Given the description of an element on the screen output the (x, y) to click on. 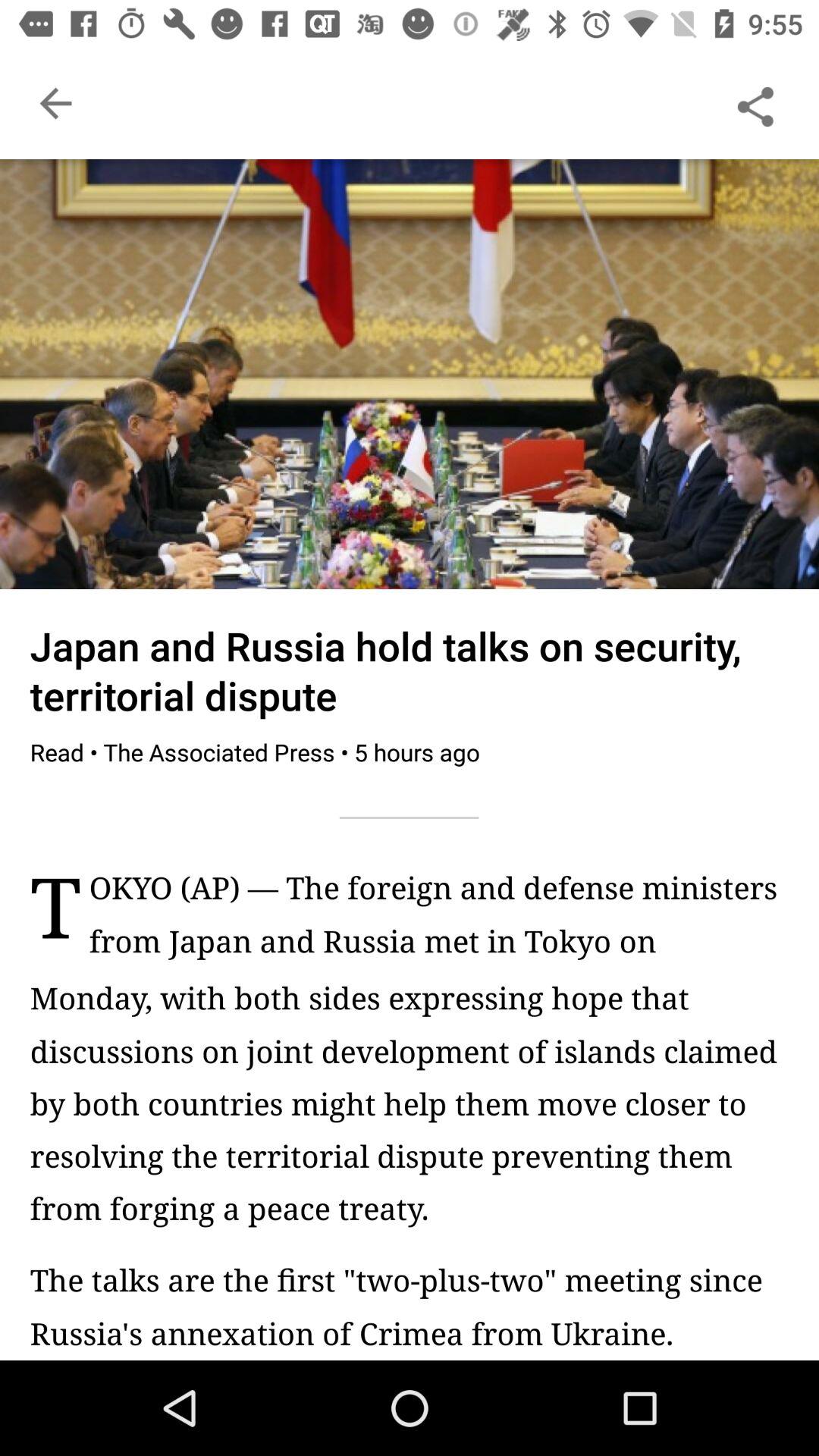
launch icon below the t icon (409, 1102)
